Given the description of an element on the screen output the (x, y) to click on. 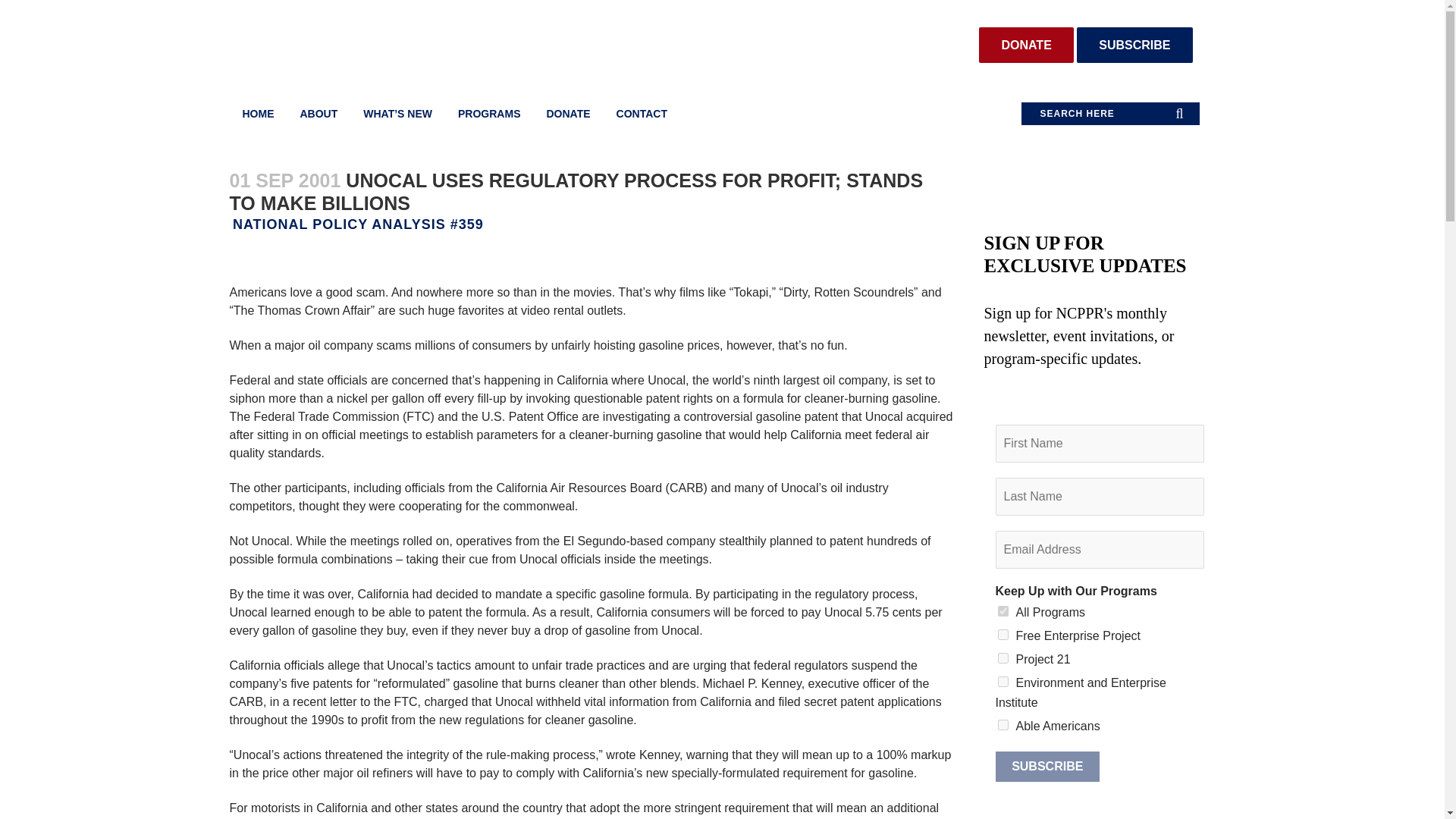
Able Americans (1003, 724)
Free Enterprise Project (1003, 634)
HOME (257, 113)
SUBSCRIBE (1134, 45)
DONATE (567, 113)
DONATE (1025, 45)
ABOUT (318, 113)
SUBSCRIBE (1046, 766)
PROGRAMS (488, 113)
CONTACT (641, 113)
